Given the description of an element on the screen output the (x, y) to click on. 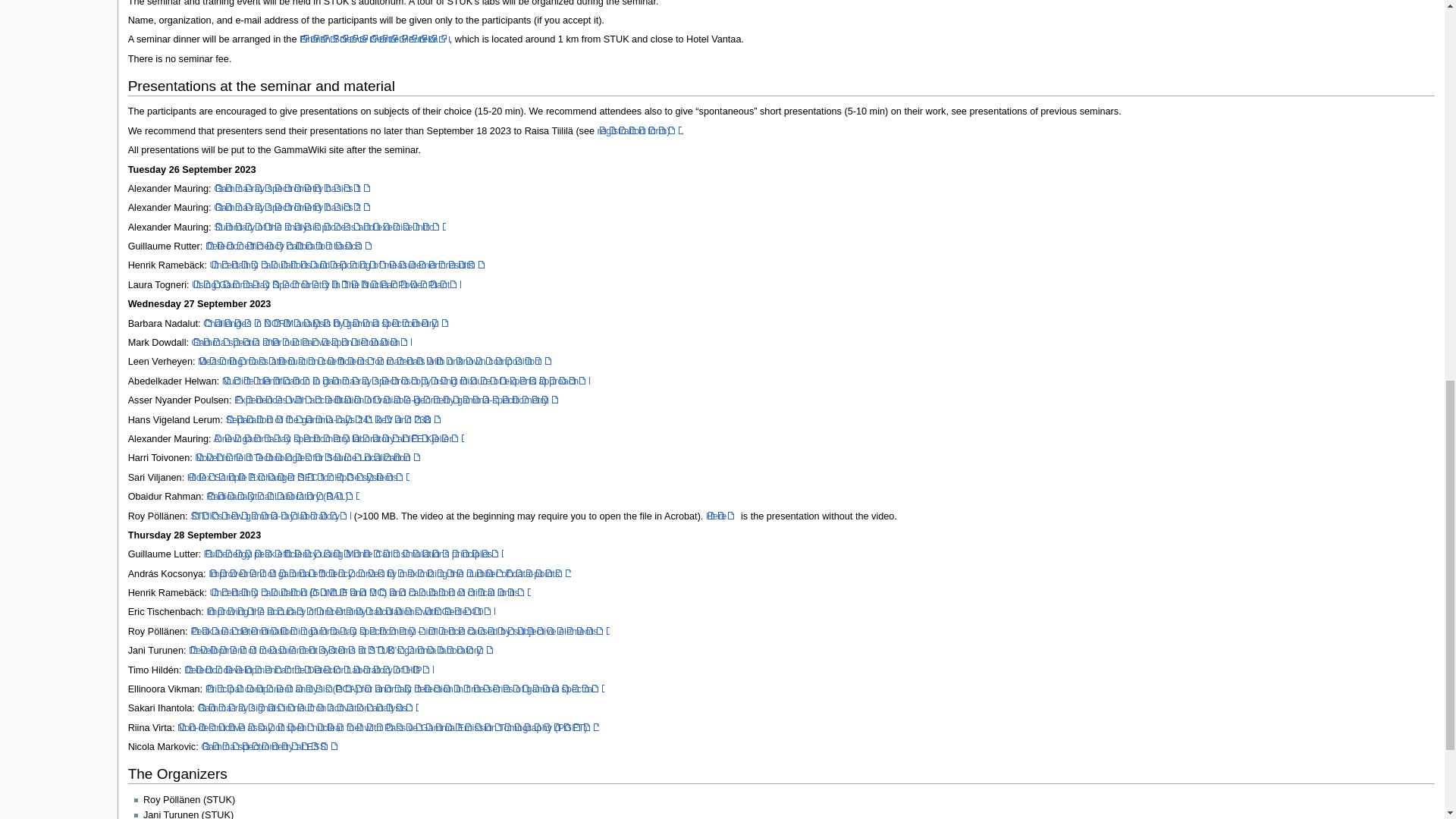
Challenges in NORM analysis by gamma spectrometry (325, 323)
Detector efficiency calibration basics (288, 245)
Summary of the analysis process and exercise intro (329, 226)
Gamma-ray spectrometry basics 2 (293, 207)
Separation of the gamma-rays 241 keV and 238 (333, 419)
Gamma spectra after nuclear weapon detonation (302, 342)
Finnish Science Centre Heureka (374, 39)
A new gamma-ray spectrometry laboratory at IFE Kjeller (337, 439)
Using Gamma-ray Spectrometry In The Nuclear Power Plant (326, 285)
Gamma-ray spectrometry basics 1 (293, 188)
